Given the description of an element on the screen output the (x, y) to click on. 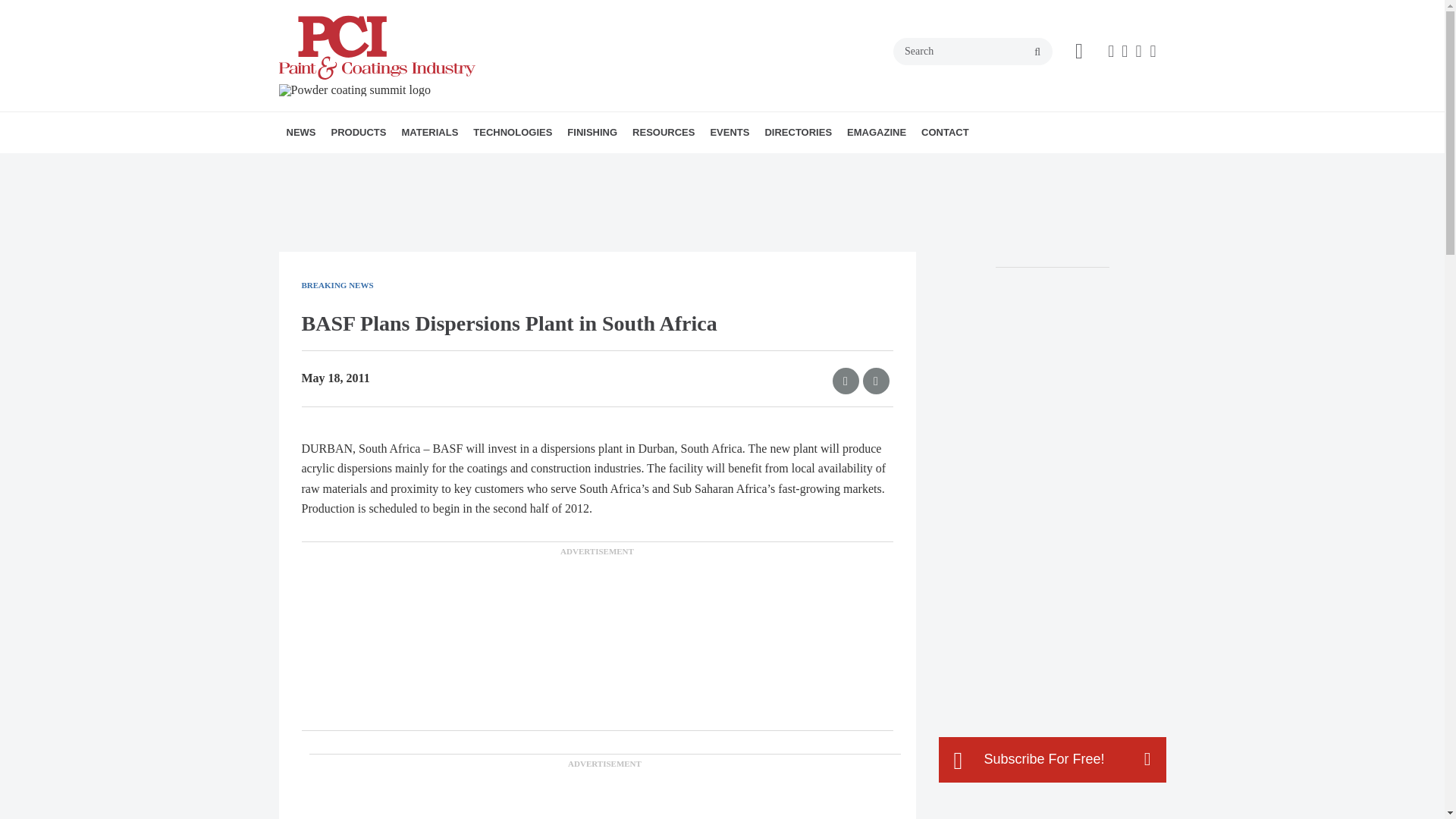
POWDER COATINGS (583, 165)
search (1037, 51)
linkedin (1138, 51)
cart (1079, 51)
INDUSTRIAL COATINGS (573, 165)
MUST SEE PRODUCTS AND SERVICES (430, 174)
DISTRIBUTORS (512, 165)
facebook (1110, 51)
twitter (1123, 51)
NEWS (301, 132)
ADHESIVES (560, 165)
MATERIALS (429, 132)
ADDITIVES (488, 165)
SUBSCRIBE TO ENEWSLETTERS (391, 165)
PRICE ALERTS (386, 165)
